Given the description of an element on the screen output the (x, y) to click on. 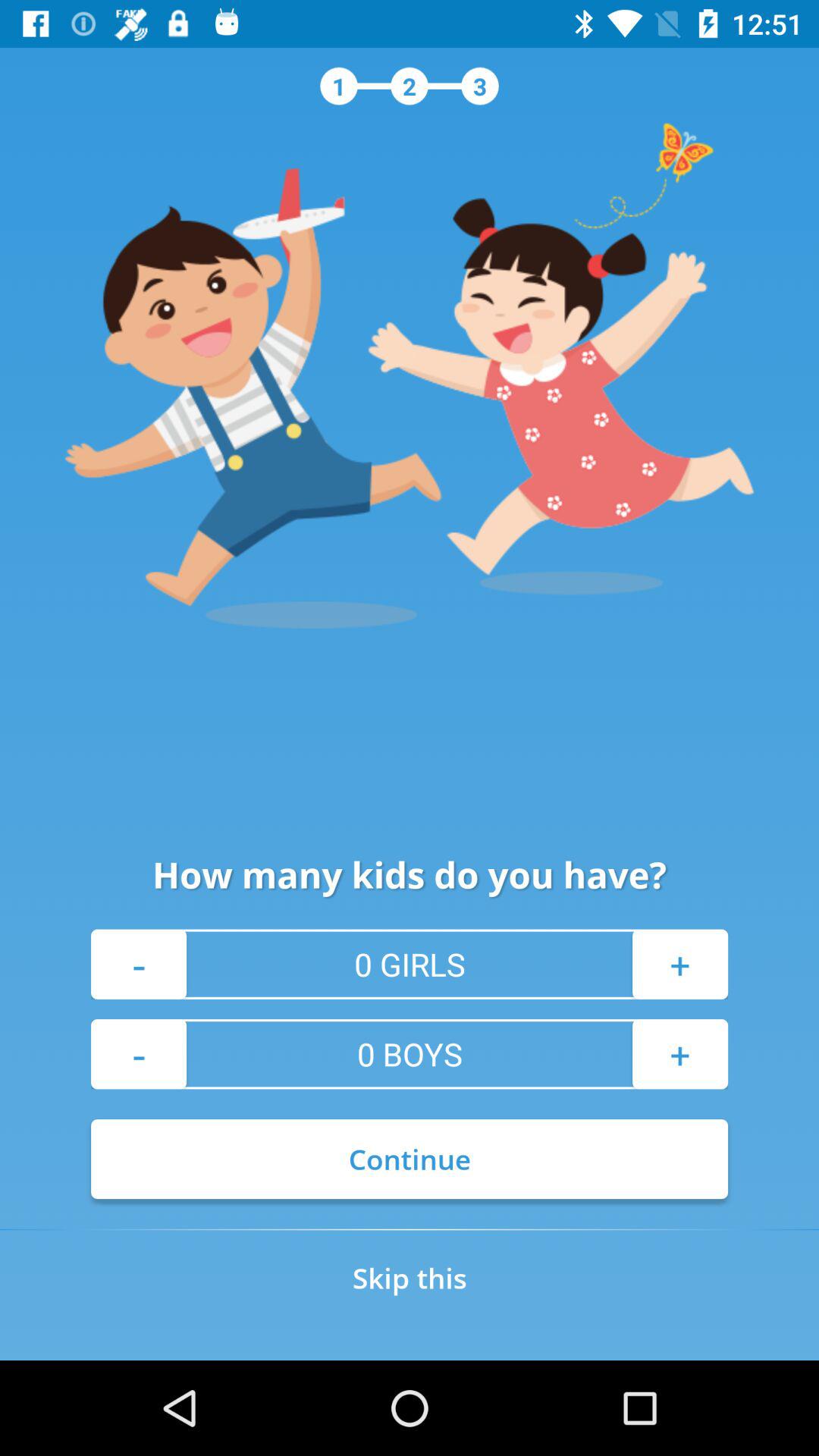
select icon next to 0 boys icon (680, 1054)
